Given the description of an element on the screen output the (x, y) to click on. 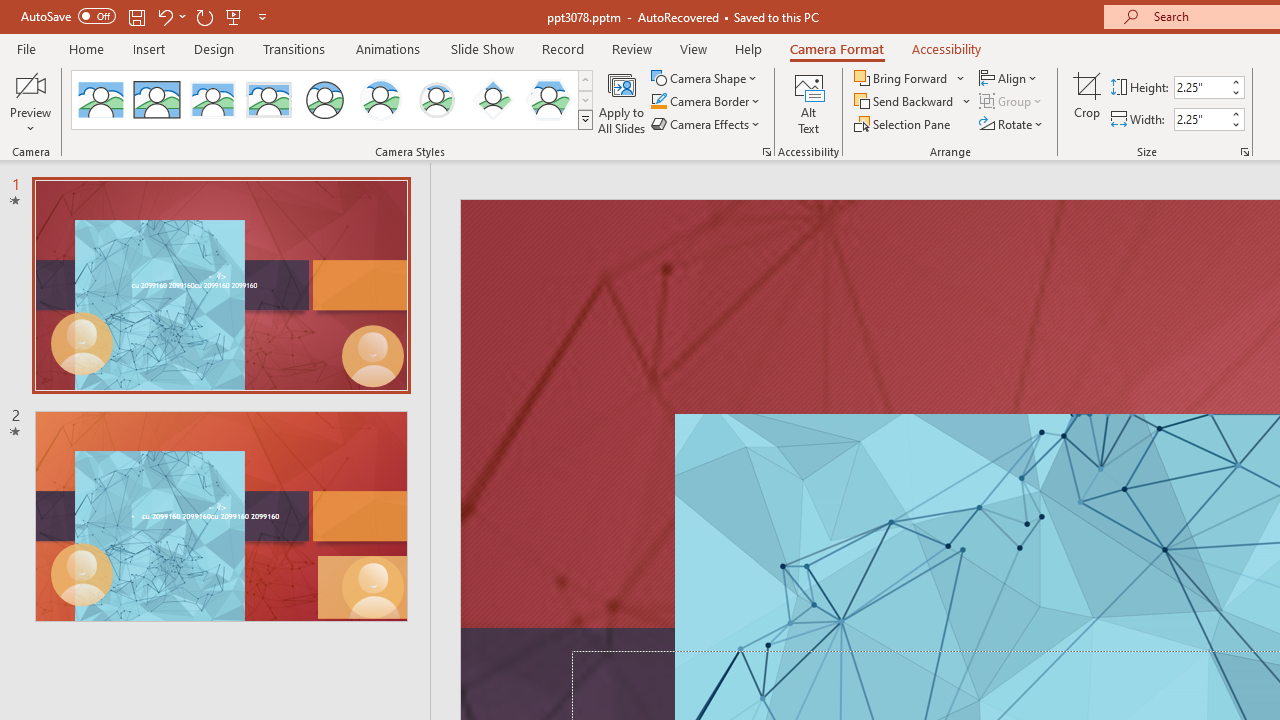
Bring Forward (902, 78)
Selection Pane... (904, 124)
Camera Border Green, Accent 1 (658, 101)
No Style (100, 100)
Soft Edge Circle (436, 100)
Camera Border (706, 101)
Cameo Width (1201, 119)
Bring Forward (910, 78)
